Given the description of an element on the screen output the (x, y) to click on. 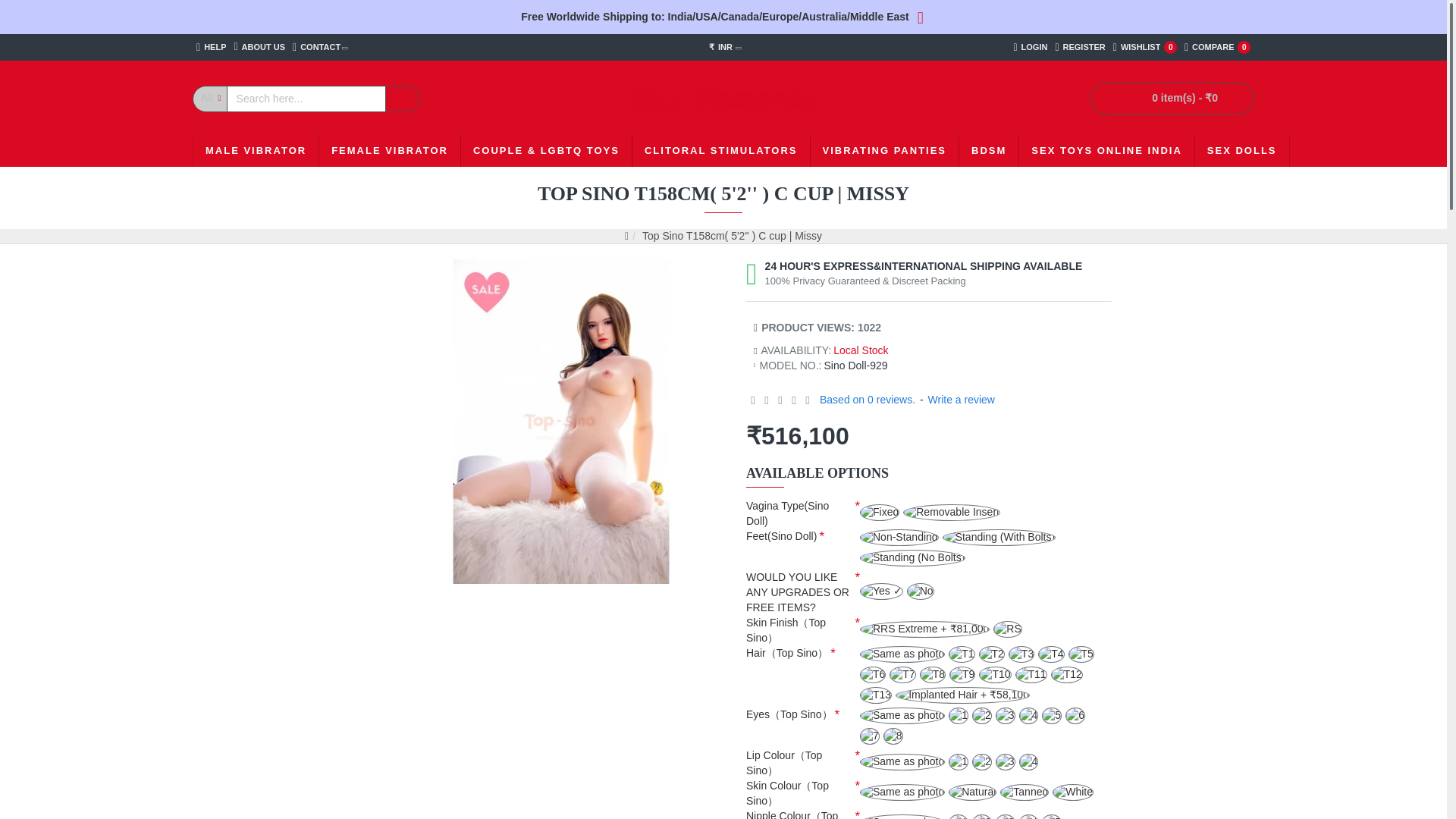
REGISTER (1216, 47)
LOGIN (1079, 47)
HELP (1030, 47)
CONTACT (211, 47)
MALE VIBRATOR (320, 47)
ABOUT US (255, 151)
Sexvibrators (259, 47)
